Given the description of an element on the screen output the (x, y) to click on. 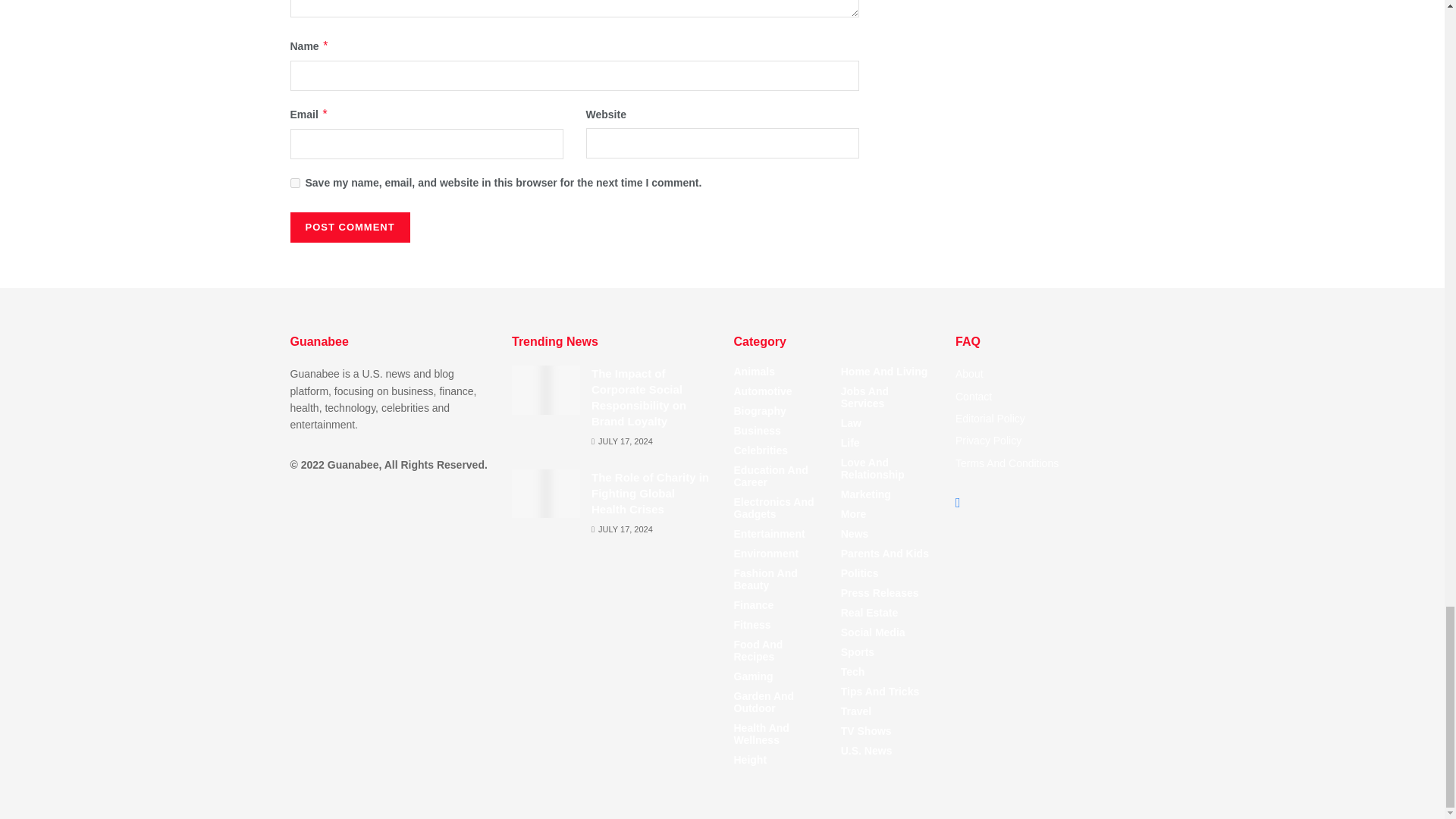
yes (294, 183)
Post Comment (349, 227)
